Given the description of an element on the screen output the (x, y) to click on. 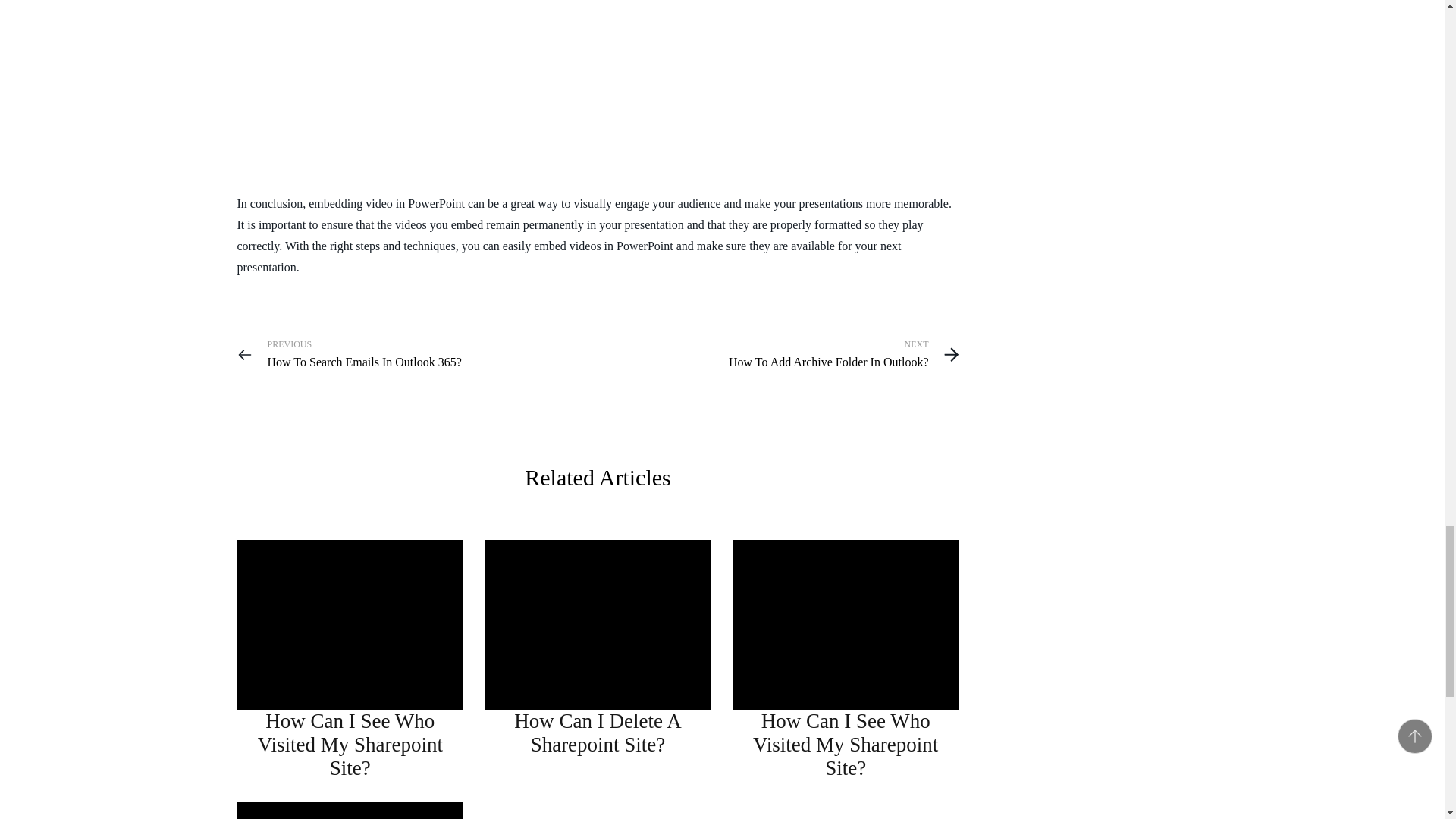
How to Insert YouTube Video in PowerPoint (448, 92)
